Given the description of an element on the screen output the (x, y) to click on. 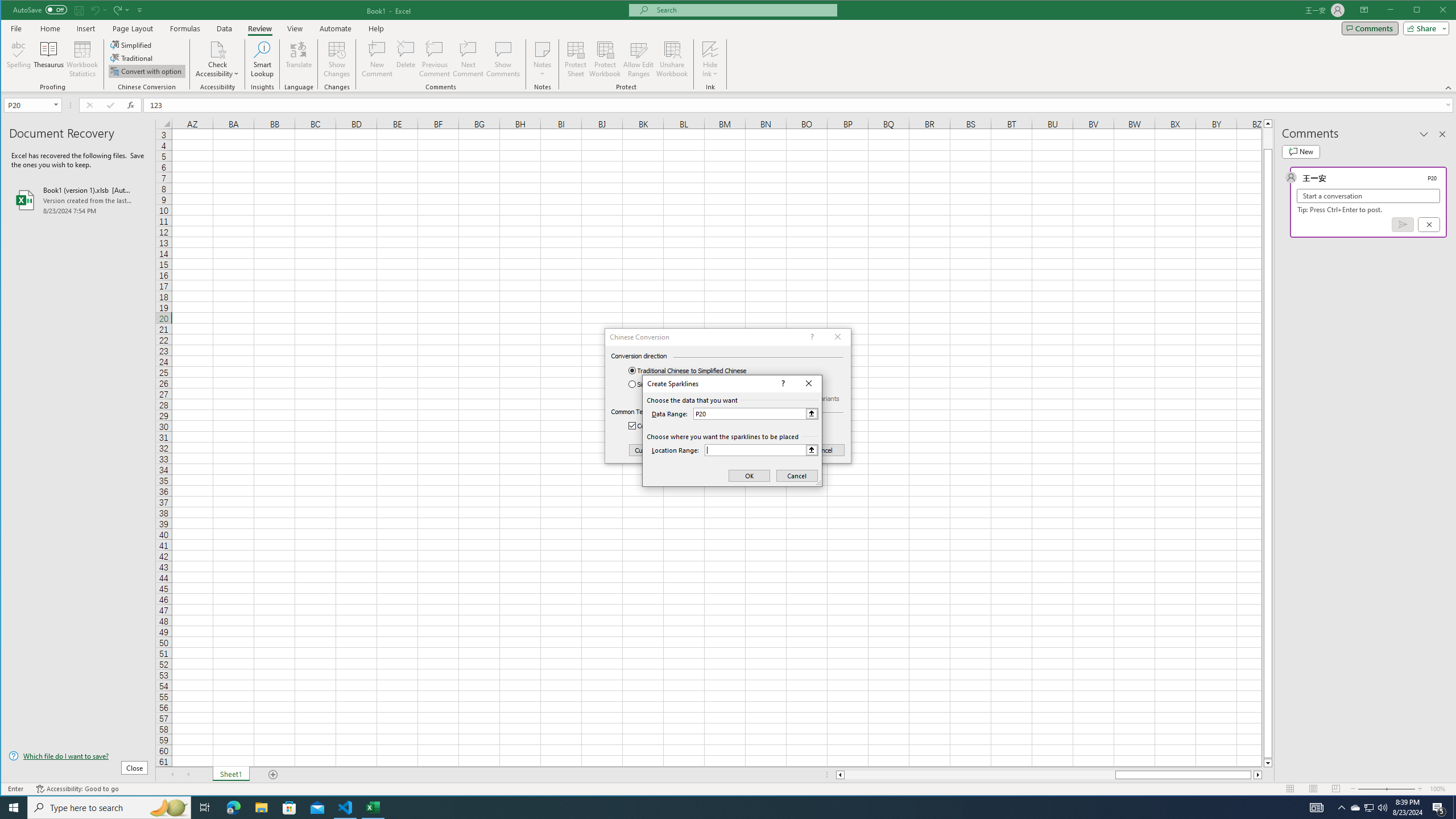
Notes (541, 59)
Start (13, 807)
Previous Comment (434, 59)
